Given the description of an element on the screen output the (x, y) to click on. 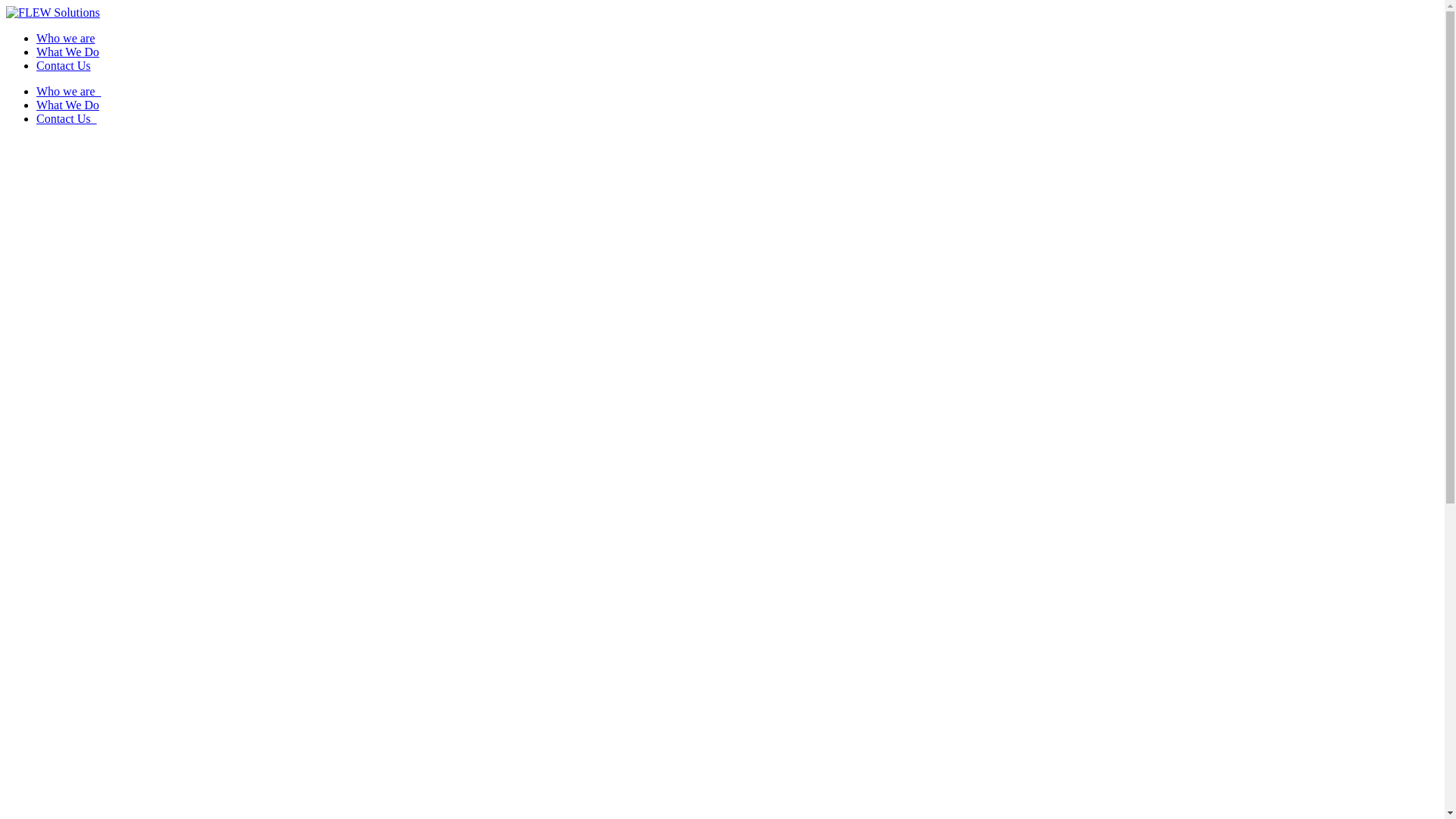
What We Do Element type: text (67, 104)
Contact Us Element type: text (63, 65)
Who we are Element type: text (65, 37)
Contact Us   Element type: text (66, 118)
Who we are   Element type: text (68, 90)
What We Do Element type: text (67, 51)
